Given the description of an element on the screen output the (x, y) to click on. 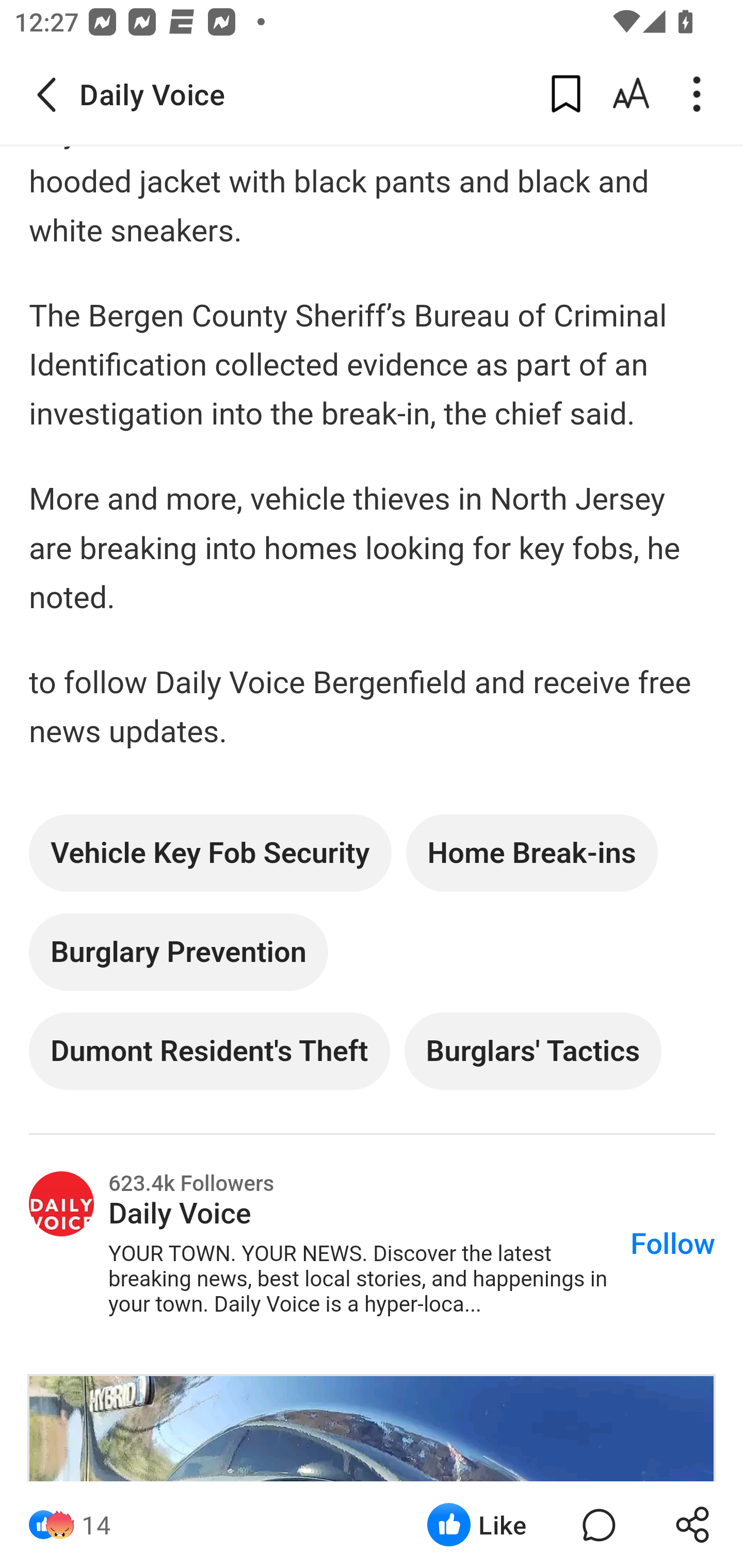
Daily (61, 1204)
Follow (673, 1244)
14 (95, 1524)
Like (476, 1524)
